Given the description of an element on the screen output the (x, y) to click on. 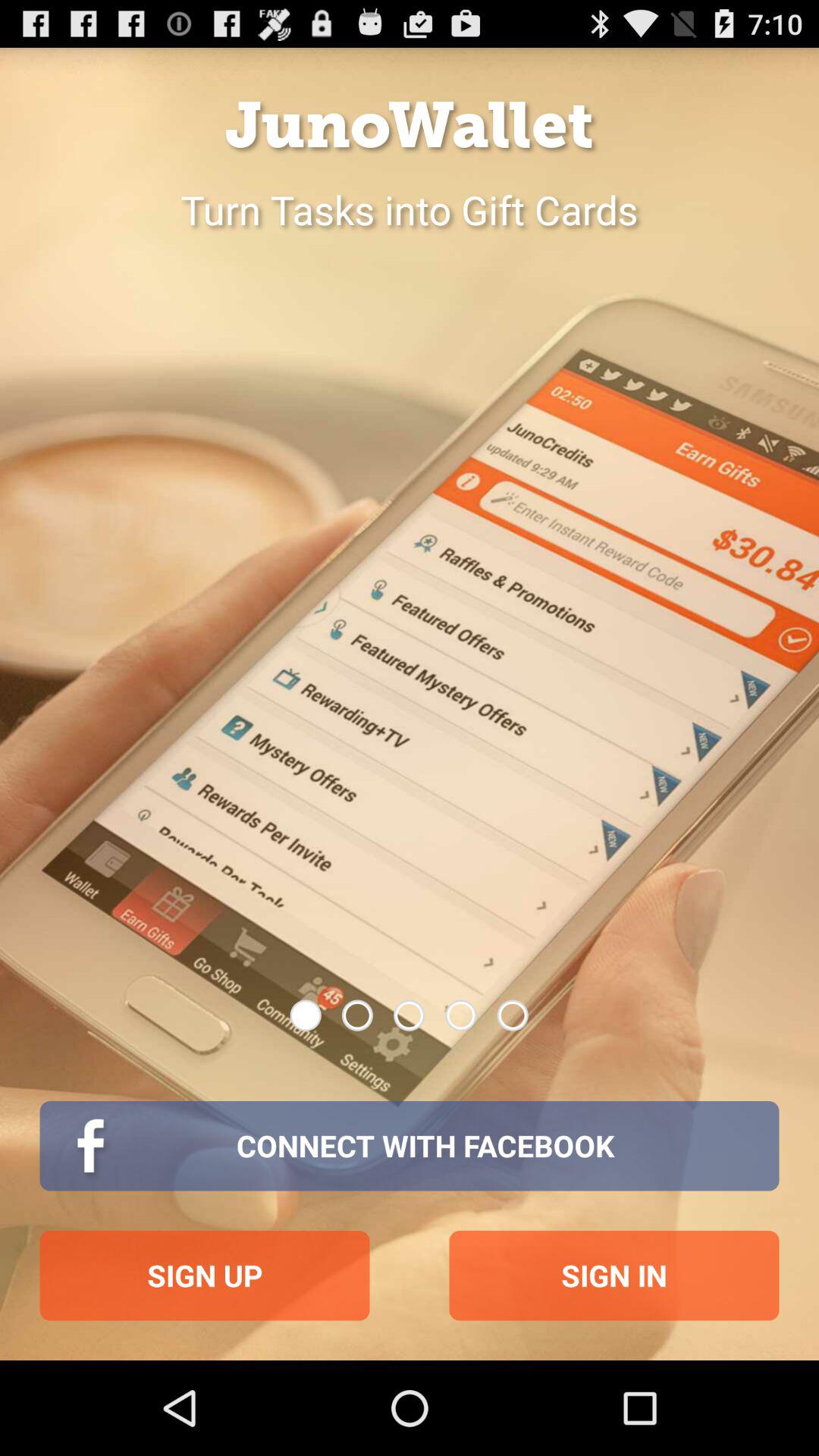
launch the icon to the right of sign up button (614, 1275)
